Given the description of an element on the screen output the (x, y) to click on. 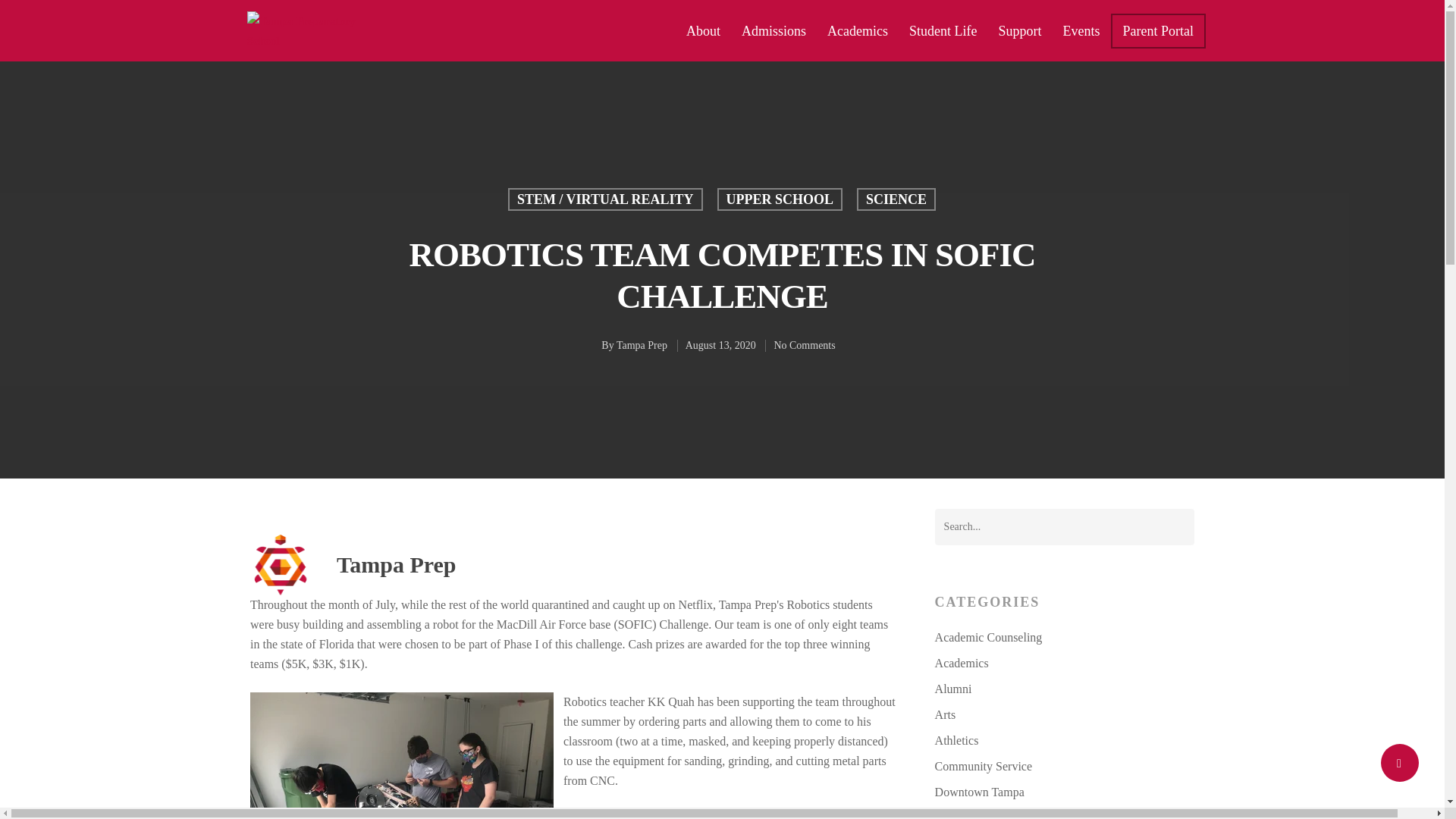
About (702, 30)
Student Life (942, 30)
Academics (857, 30)
Posts by Tampa Prep (640, 345)
No Comments (803, 345)
Admissions (773, 30)
